Given the description of an element on the screen output the (x, y) to click on. 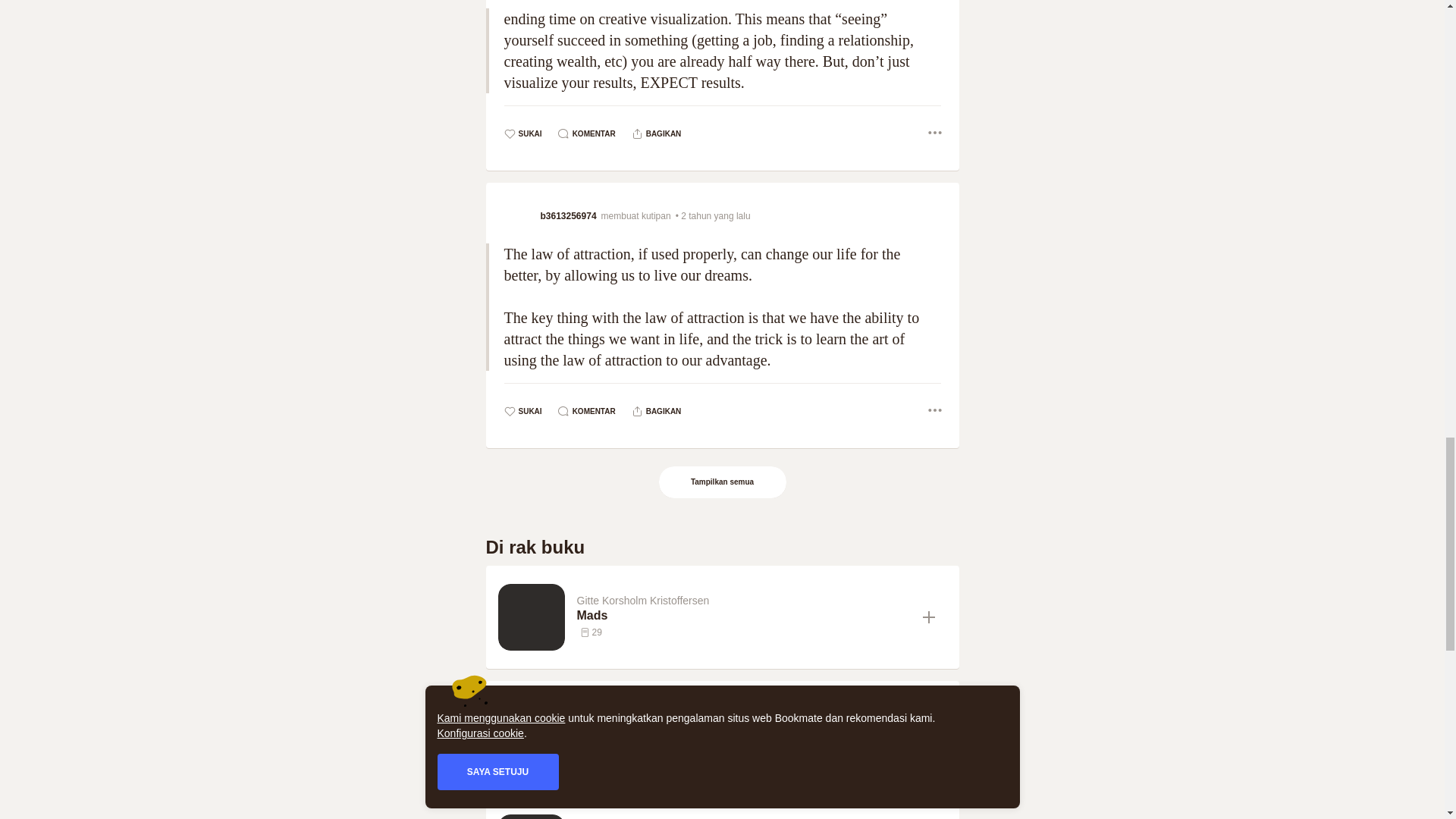
Tampilkan semua (722, 481)
Tampilkan semua (722, 481)
Mads (743, 615)
English (743, 730)
